Given the description of an element on the screen output the (x, y) to click on. 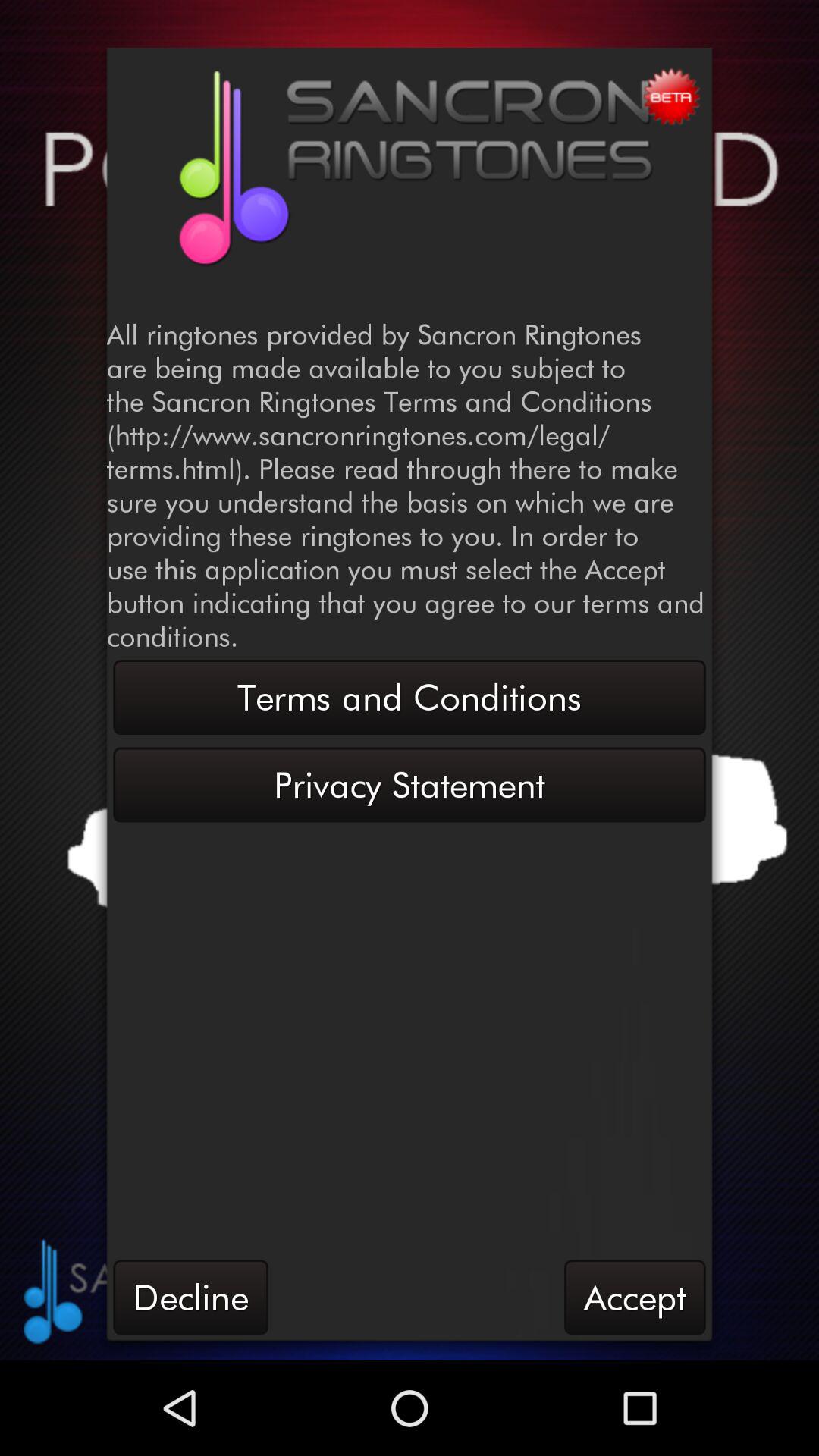
choose item to the left of the accept button (190, 1296)
